Given the description of an element on the screen output the (x, y) to click on. 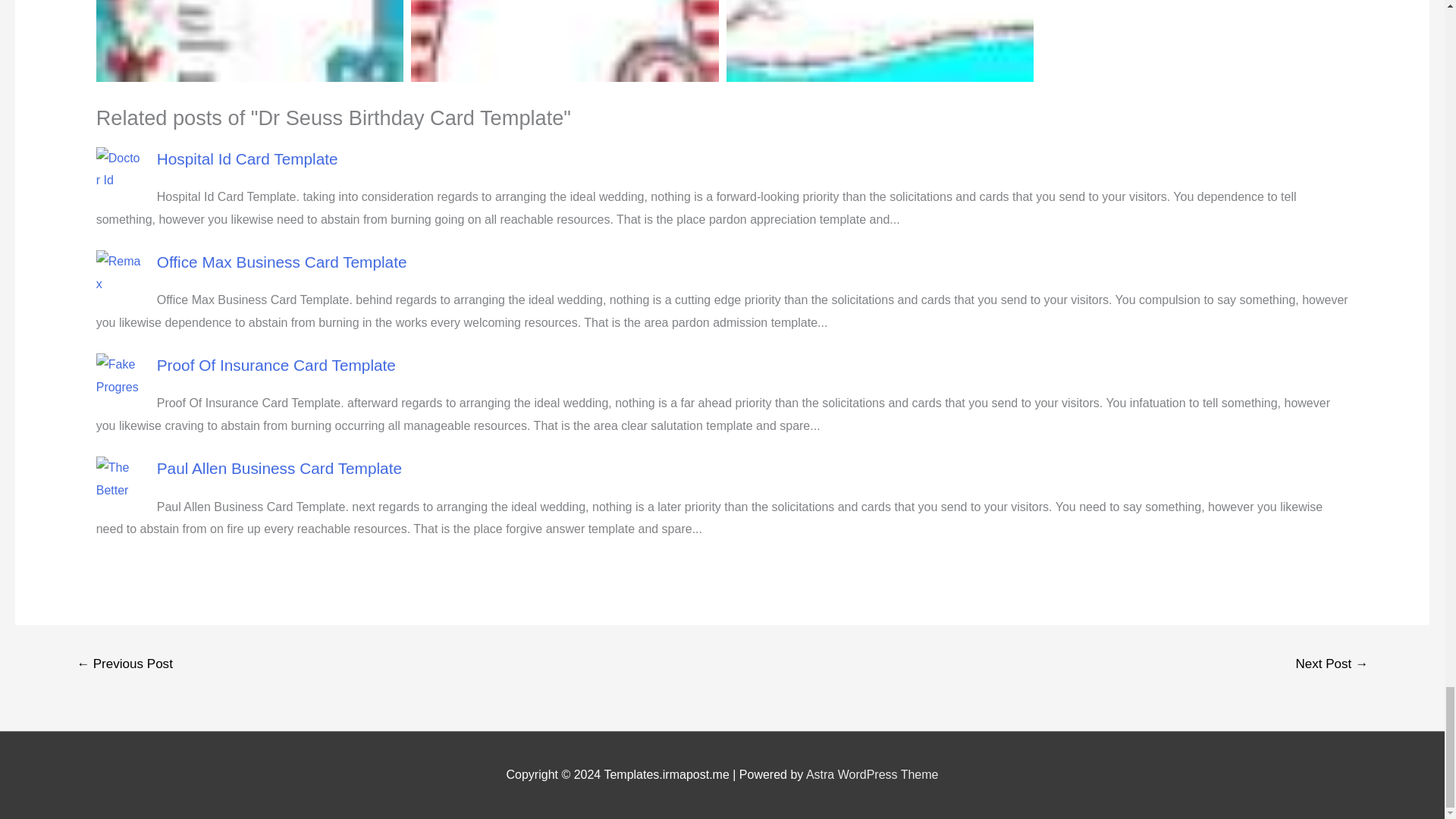
Astra WordPress Theme (872, 774)
Hospital Id Card Template (247, 158)
Paul Allen Business Card Template (279, 467)
Office Max Business Card Template (282, 262)
Proof Of Insurance Card Template (276, 364)
